Given the description of an element on the screen output the (x, y) to click on. 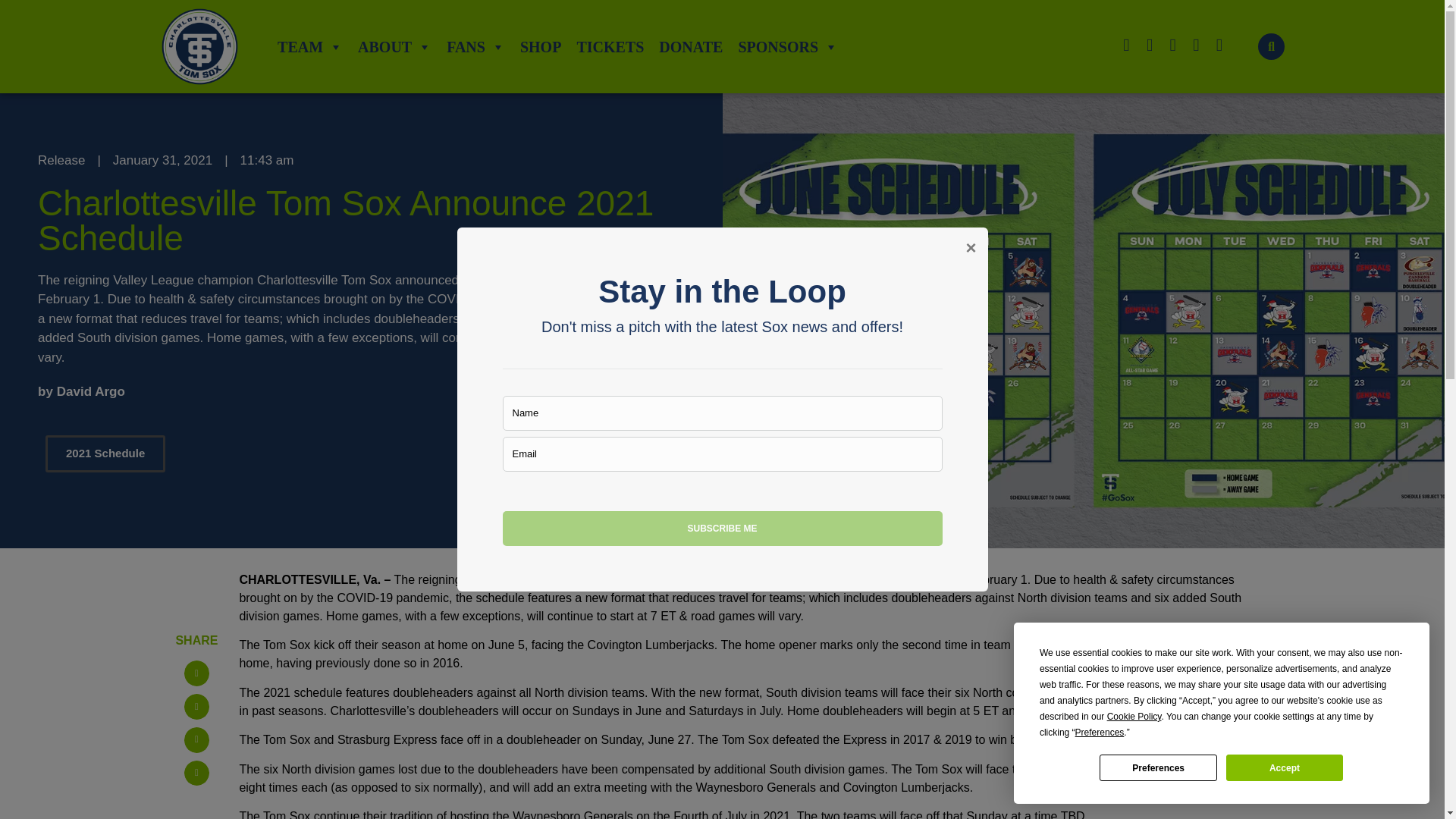
Accept (1283, 767)
ABOUT (394, 46)
Preferences (1157, 767)
FANS (475, 46)
TEAM (309, 46)
